Given the description of an element on the screen output the (x, y) to click on. 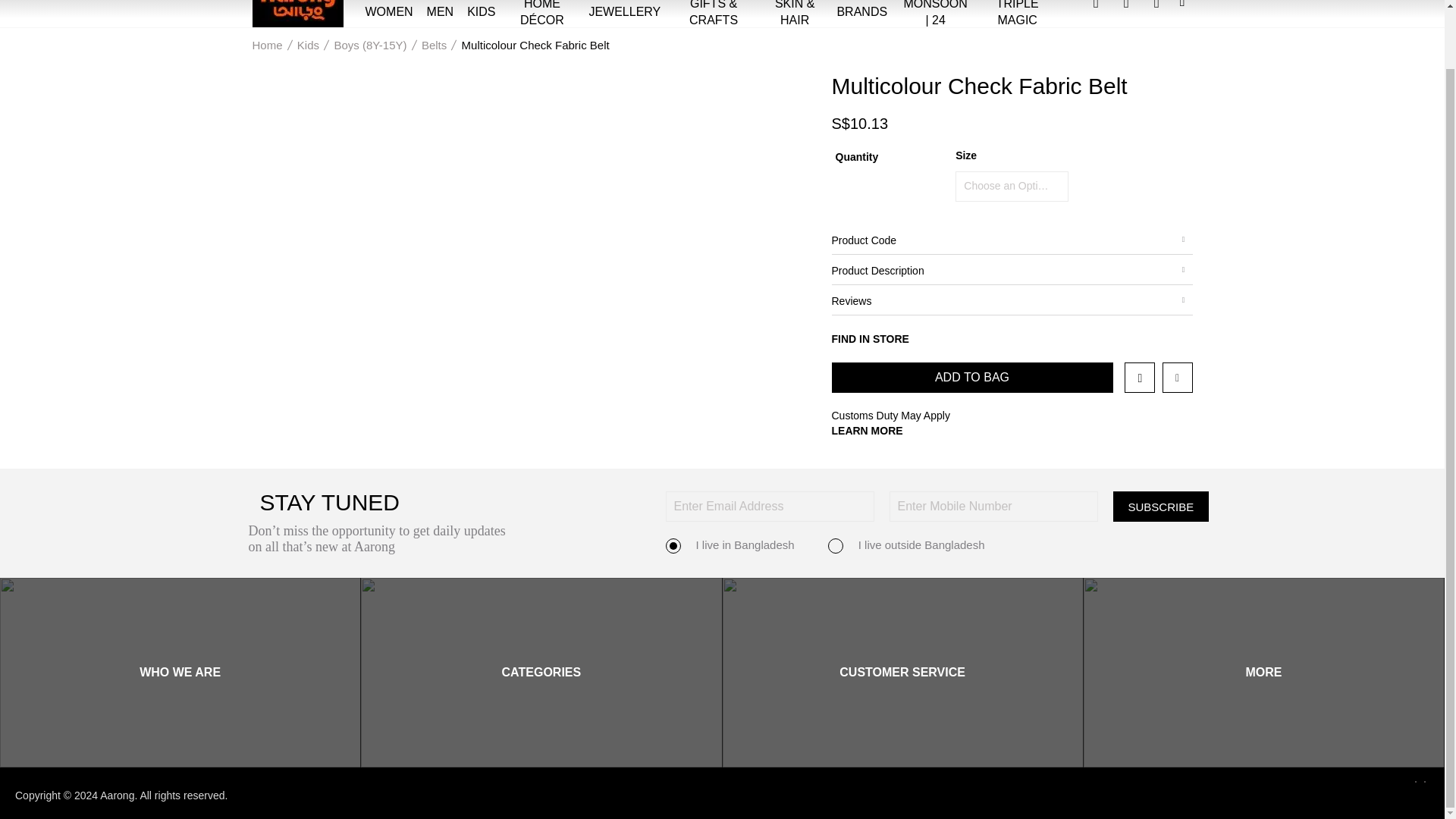
BGD (777, 2)
Aarong Ecommerce (296, 13)
WOMEN (388, 17)
